Given the description of an element on the screen output the (x, y) to click on. 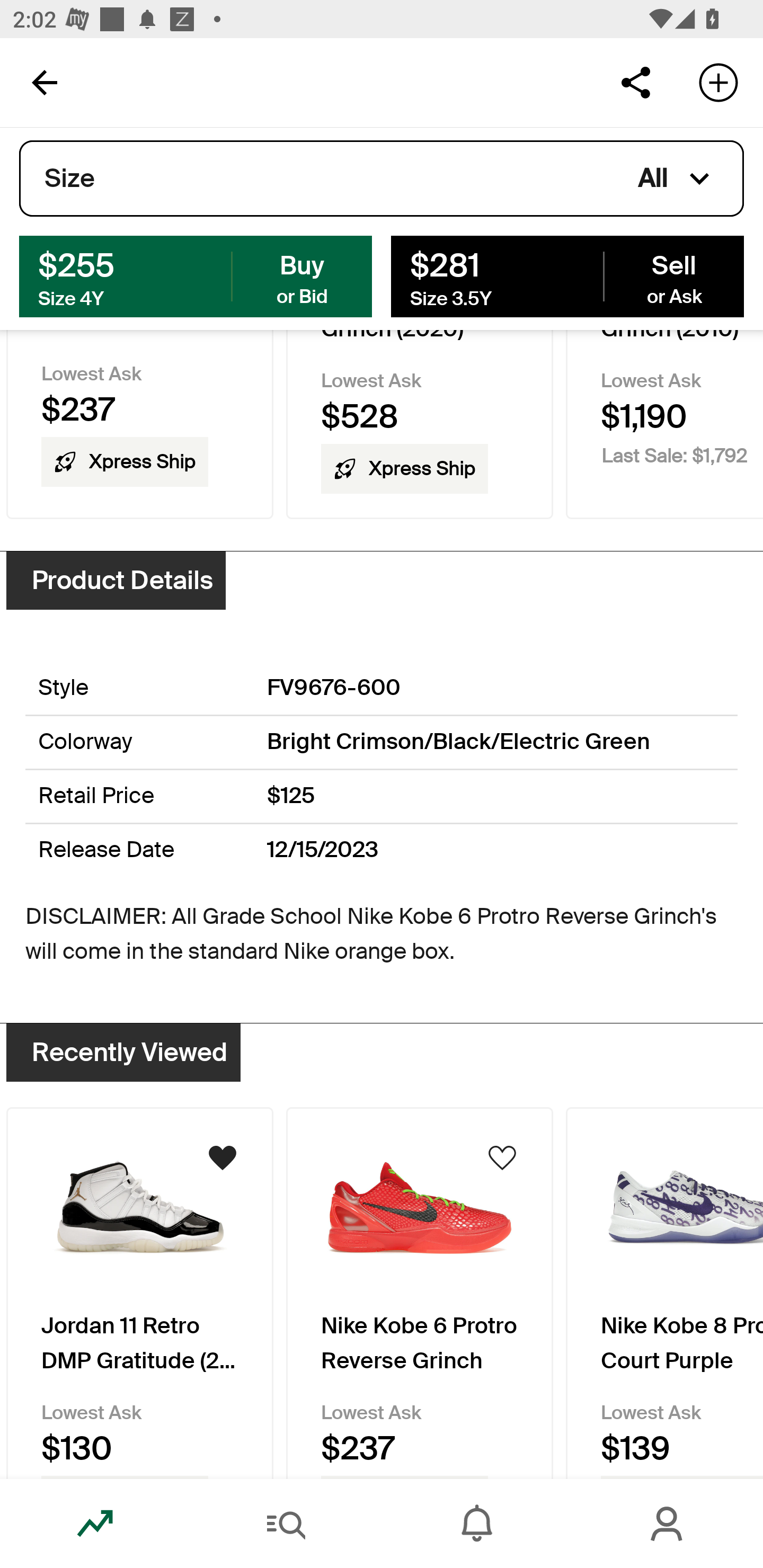
Share (635, 81)
Add (718, 81)
Size All (381, 178)
$255 Buy Size 4Y or Bid (195, 275)
$281 Sell Size 3.5Y or Ask (566, 275)
Search (285, 1523)
Inbox (476, 1523)
Account (667, 1523)
